Given the description of an element on the screen output the (x, y) to click on. 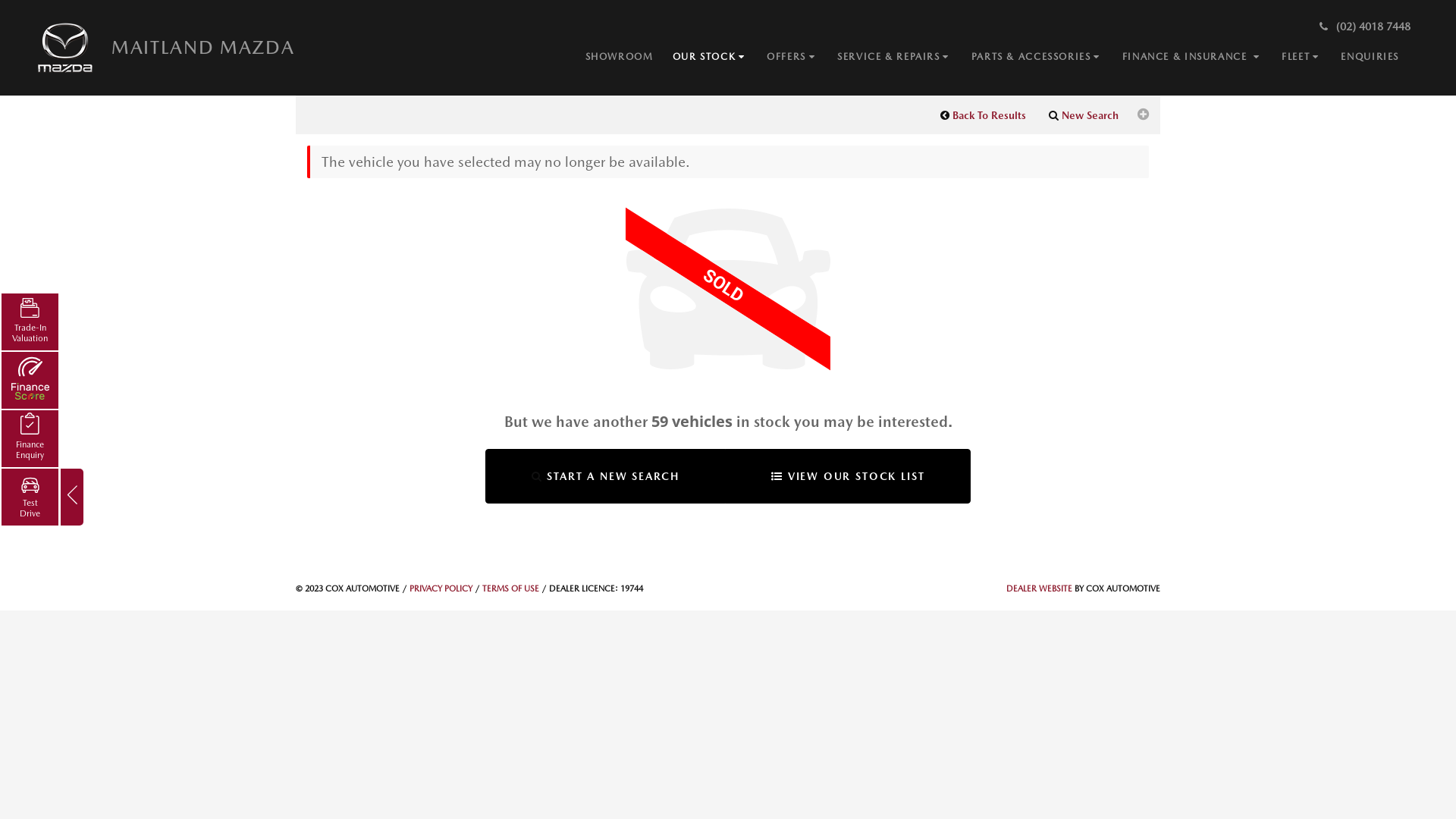
Test
Drive Element type: text (29, 496)
VIEW OUR STOCK LIST Element type: text (847, 475)
PARTS & ACCESSORIES Element type: text (1046, 56)
PRIVACY POLICY Element type: text (440, 588)
DEALER WEBSITE Element type: text (1039, 588)
OUR STOCK Element type: text (718, 56)
 (02) 4018 7448 Element type: text (1363, 26)
Trade-In
Valuation Element type: text (29, 321)
Finance
Enquiry Element type: text (29, 438)
SERVICE & REPAIRS Element type: text (904, 56)
SHOWROOM Element type: text (628, 56)
New Search Element type: text (1083, 115)
START A NEW SEARCH Element type: text (605, 475)
TERMS OF USE Element type: text (510, 588)
FLEET Element type: text (1310, 56)
ENQUIRIES Element type: text (1379, 56)
Back To Results Element type: text (982, 115)
OFFERS Element type: text (801, 56)
FINANCE & INSURANCE Element type: text (1202, 56)
